Given the description of an element on the screen output the (x, y) to click on. 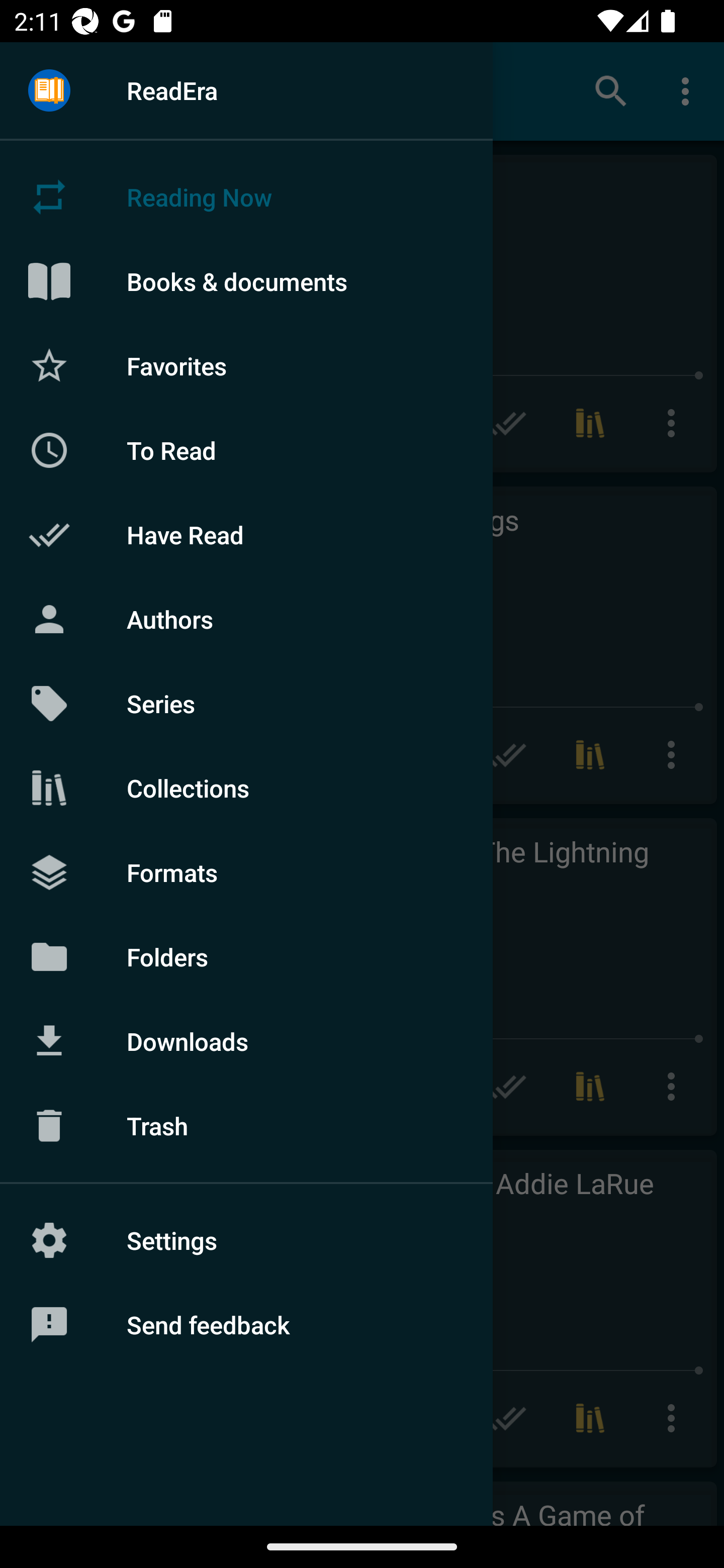
Menu (49, 91)
ReadEra (246, 89)
Search books & documents (611, 90)
More options (688, 90)
Reading Now (246, 197)
Books & documents (246, 281)
Favorites (246, 365)
To Read (246, 449)
Have Read (246, 534)
Authors (246, 619)
Series (246, 703)
Collections (246, 787)
Formats (246, 871)
Folders (246, 956)
Downloads (246, 1040)
Trash (246, 1125)
Settings (246, 1239)
Send feedback (246, 1324)
